Given the description of an element on the screen output the (x, y) to click on. 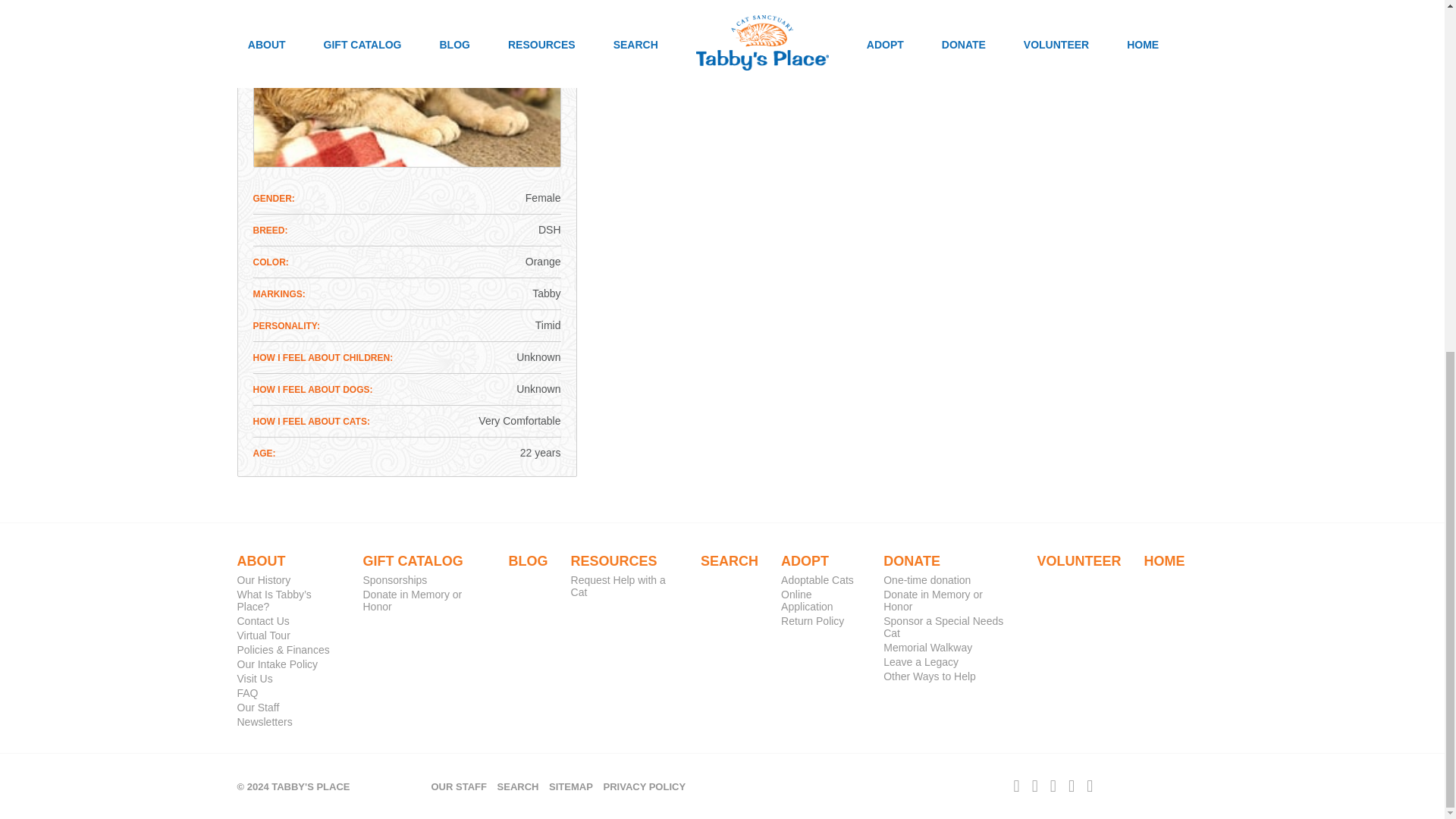
Our History (262, 580)
